Given the description of an element on the screen output the (x, y) to click on. 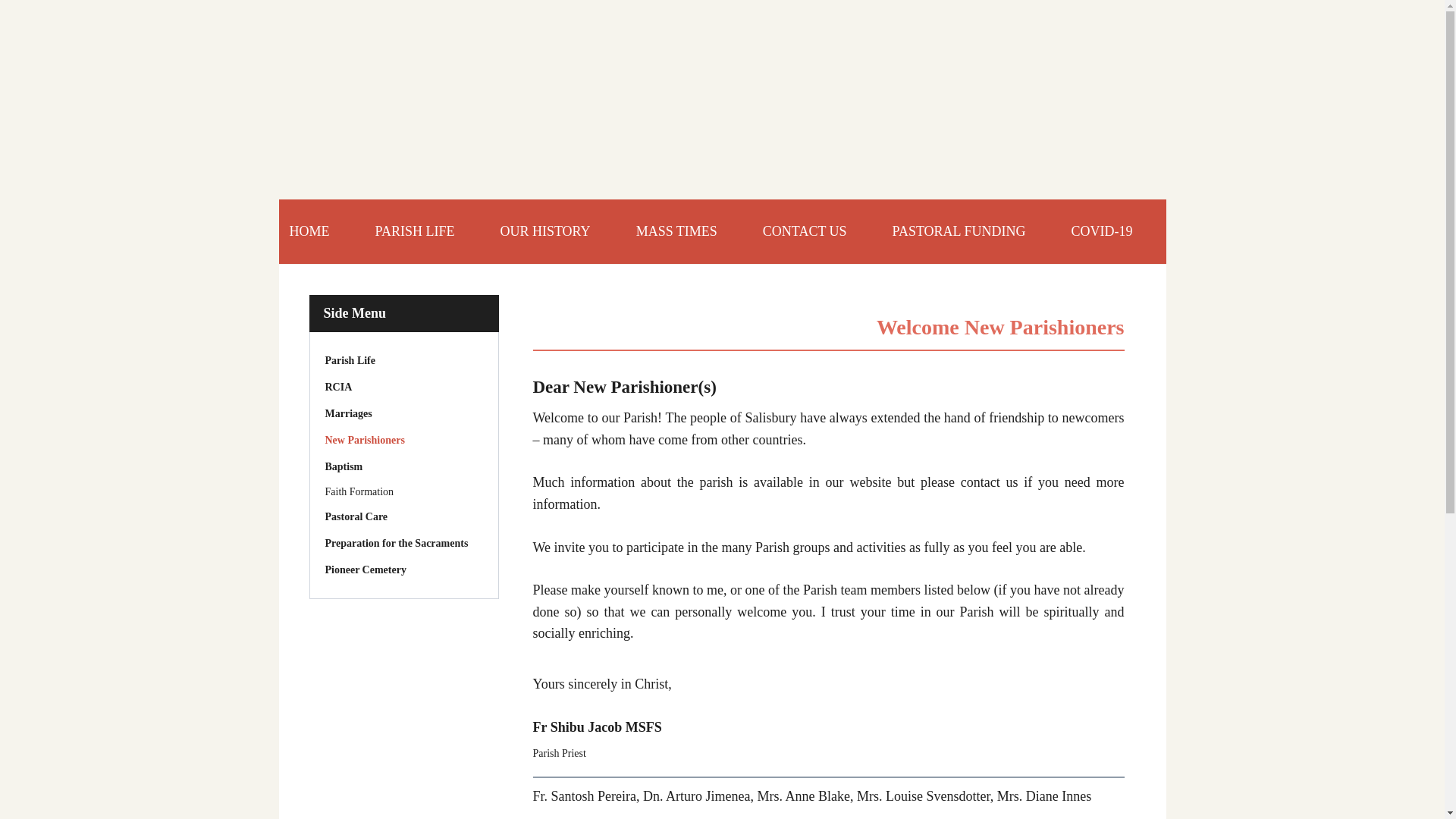
Preparation for the Sacraments (402, 542)
Baptism (402, 466)
PARISH LIFE (414, 231)
MASS TIMES (675, 231)
Pioneer Cemetery (402, 569)
Marriages (402, 413)
Pastoral Care (402, 516)
CONTACT US (804, 231)
OUR HISTORY (544, 231)
COVID-19 (1101, 231)
